Given the description of an element on the screen output the (x, y) to click on. 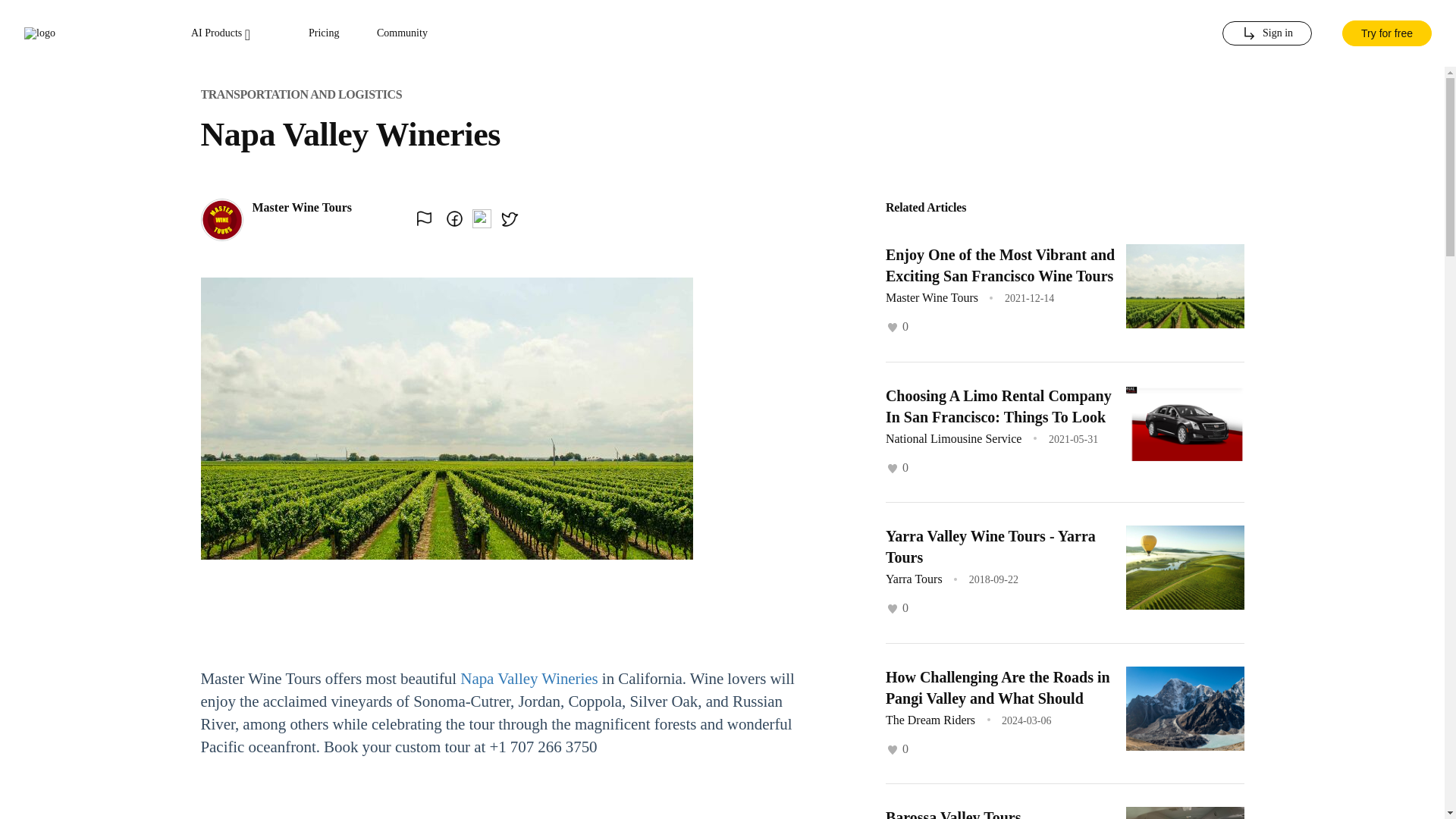
Try for free (1386, 32)
Community (402, 33)
TRANSPORTATION AND LOGISTICS (300, 93)
 Sign in (1267, 33)
Napa Valley Wineries (528, 678)
Pricing (323, 33)
Yarra Valley Wine Tours - Yarra Tours (990, 546)
